Given the description of an element on the screen output the (x, y) to click on. 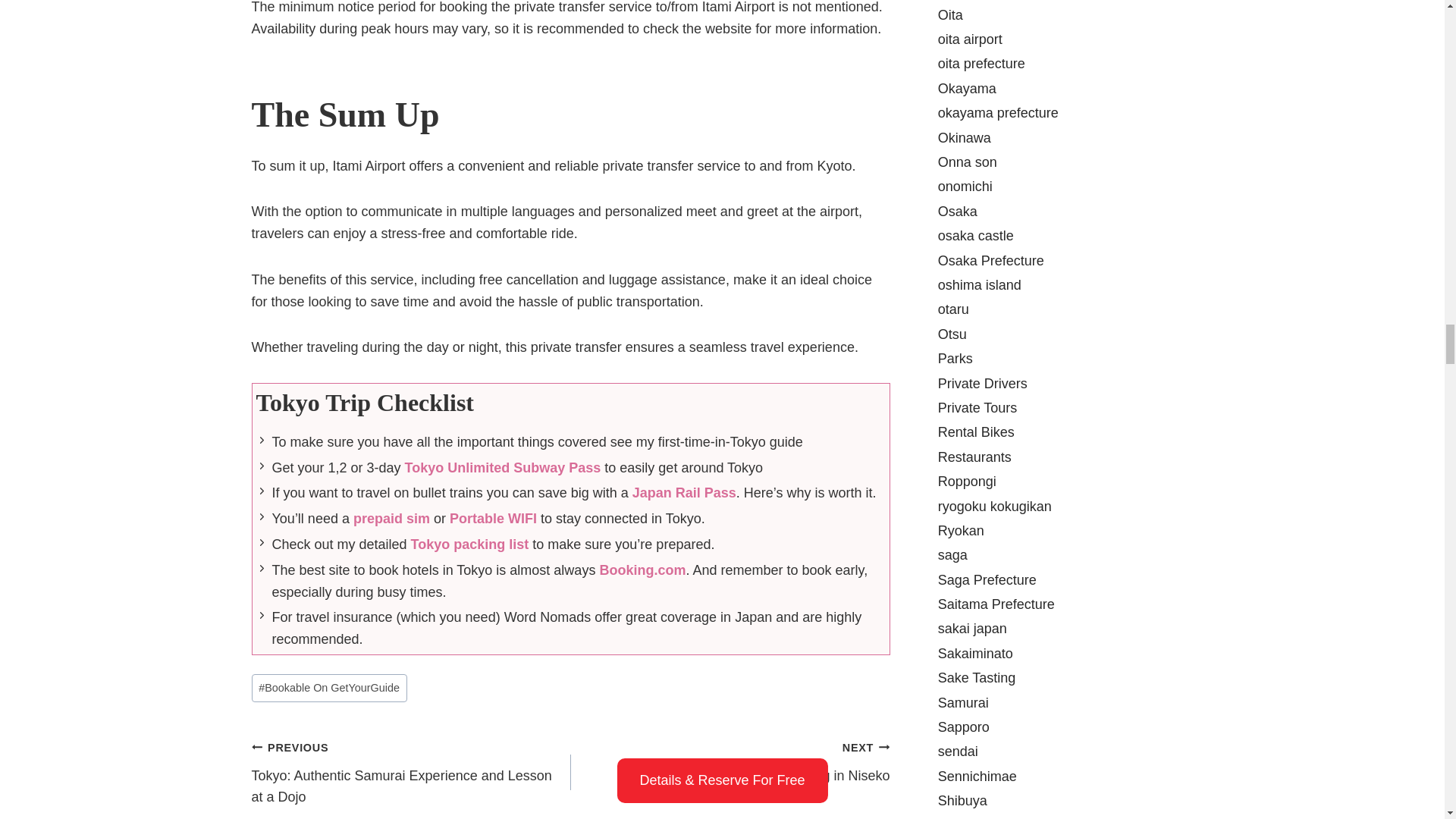
Bookable On GetYourGuide (329, 687)
